Given the description of an element on the screen output the (x, y) to click on. 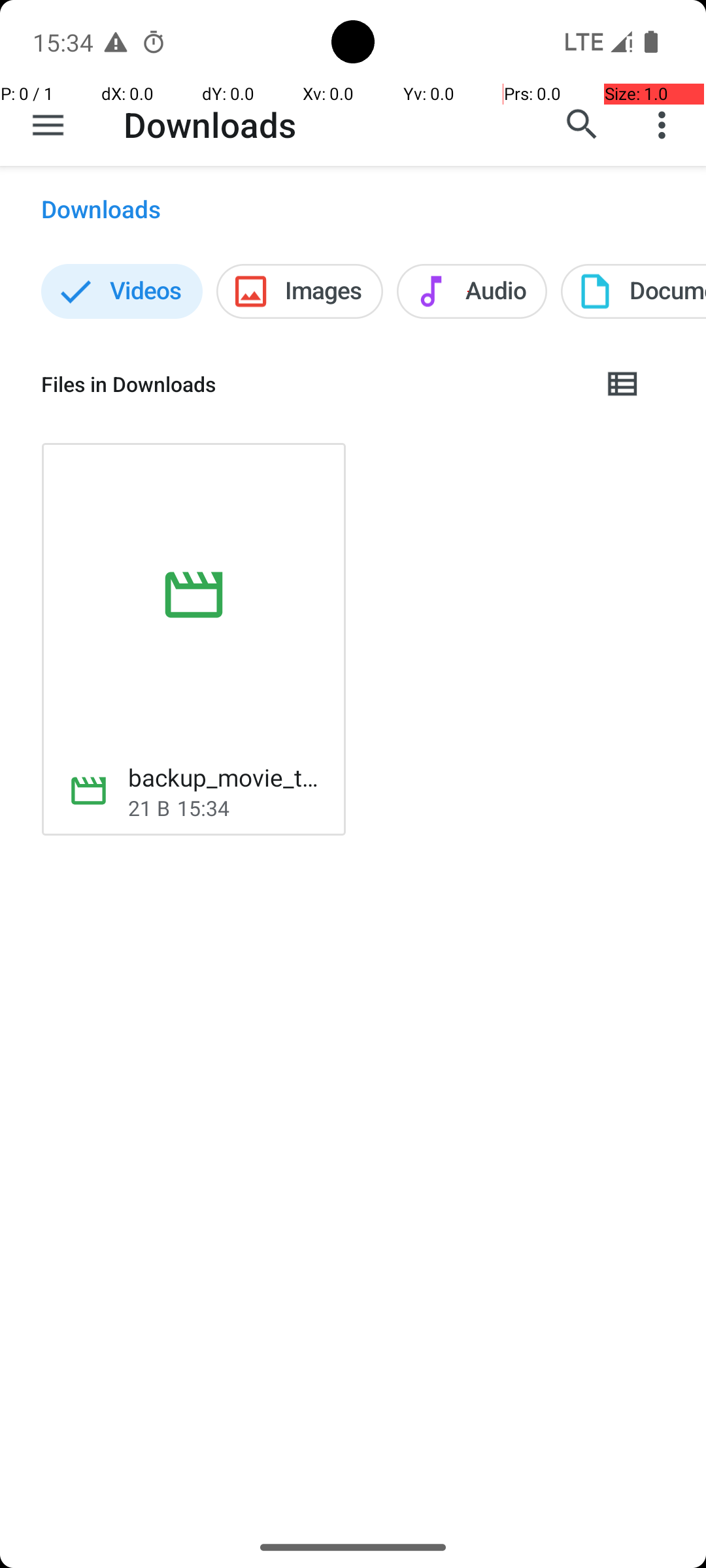
backup_movie_trailer.mp4 Element type: android.widget.TextView (226, 776)
21 B Element type: android.widget.TextView (148, 807)
